Given the description of an element on the screen output the (x, y) to click on. 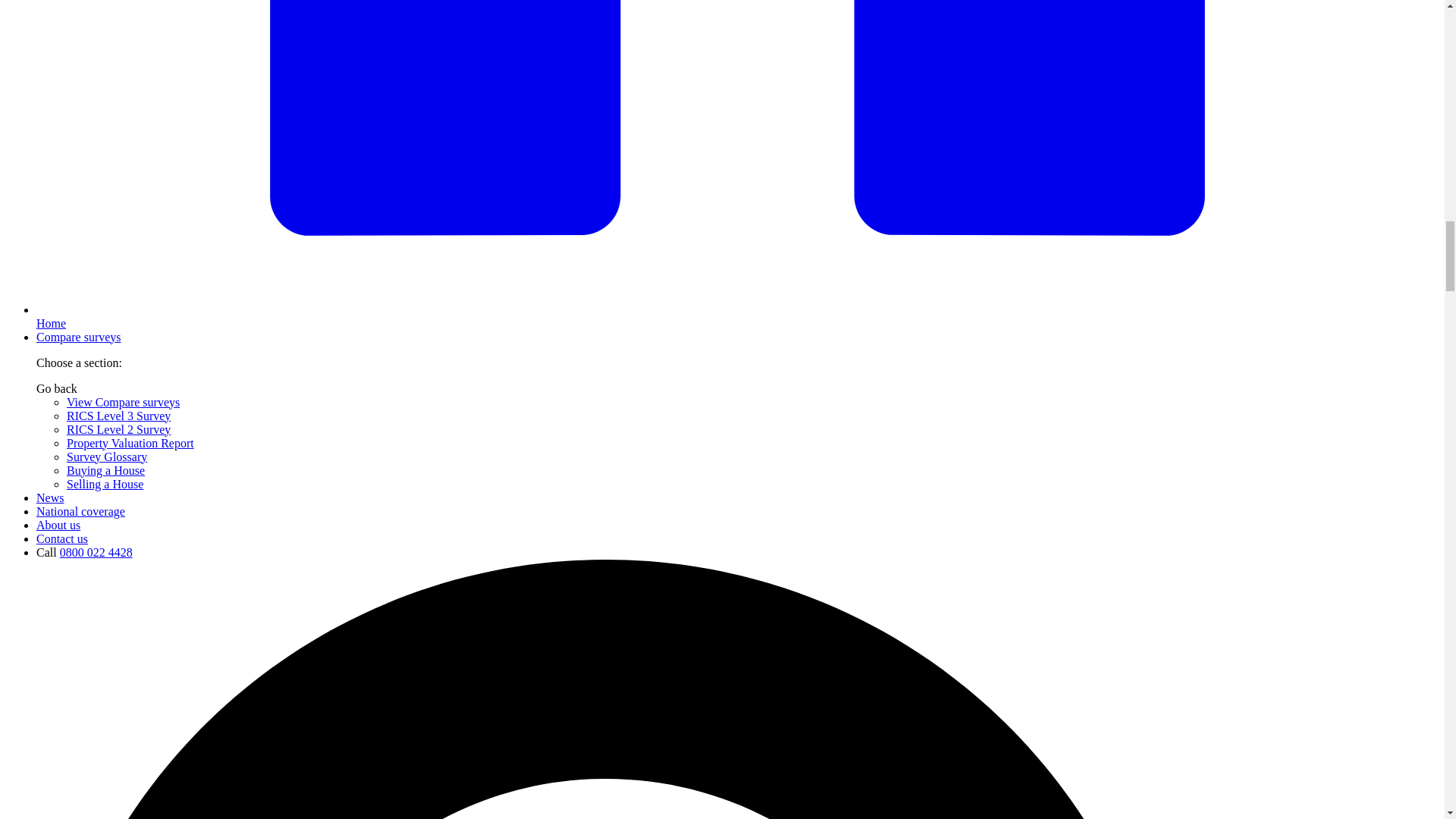
Property Valuation Report (129, 442)
National coverage (80, 511)
RICS Level 2 Survey (118, 429)
Compare surveys (78, 336)
View Compare surveys (122, 401)
RICS Level 3 Survey (118, 415)
News (50, 497)
0800 022 4428 (95, 552)
Selling a House (104, 483)
About us (58, 524)
Contact us (61, 538)
Survey Glossary (106, 456)
Buying a House (105, 470)
